Given the description of an element on the screen output the (x, y) to click on. 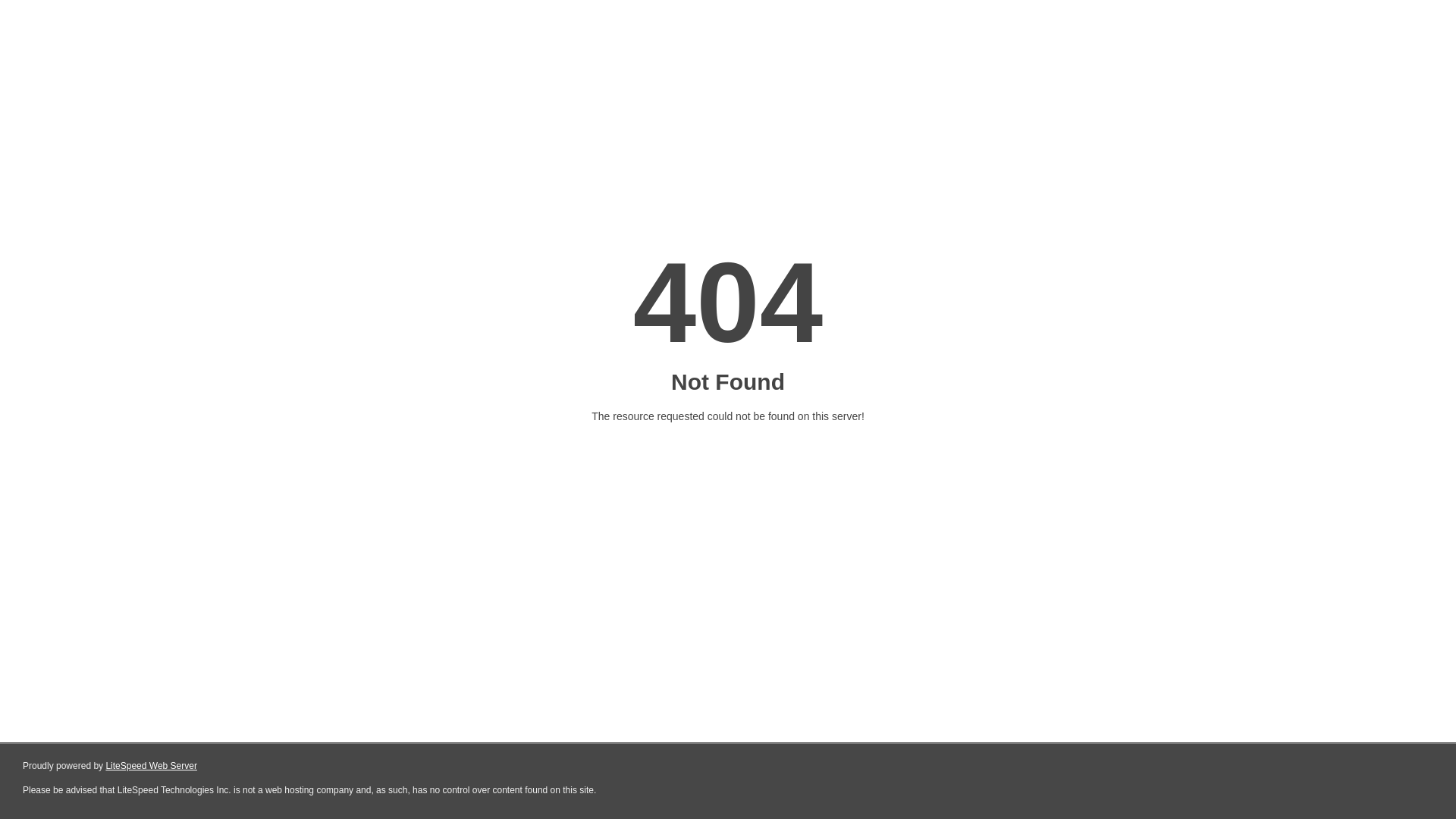
LiteSpeed Web Server Element type: text (151, 765)
